Given the description of an element on the screen output the (x, y) to click on. 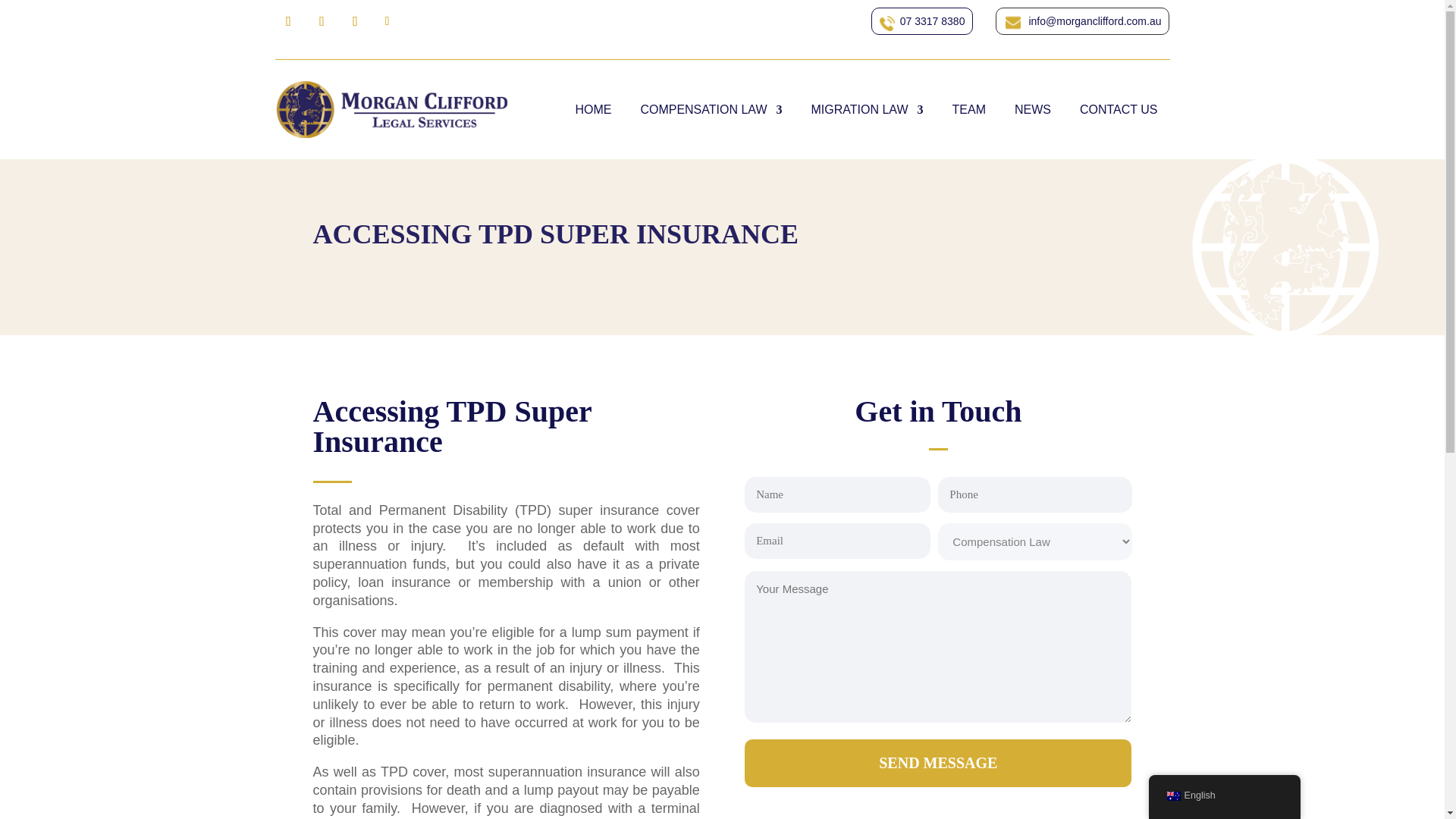
Follow on Twitter (320, 21)
Follow on Instagram (386, 21)
Follow on LinkedIn (354, 21)
MIGRATION LAW (866, 108)
Send Message (937, 763)
English (1172, 795)
Follow on Facebook (288, 21)
COMPENSATION LAW (710, 108)
